Given the description of an element on the screen output the (x, y) to click on. 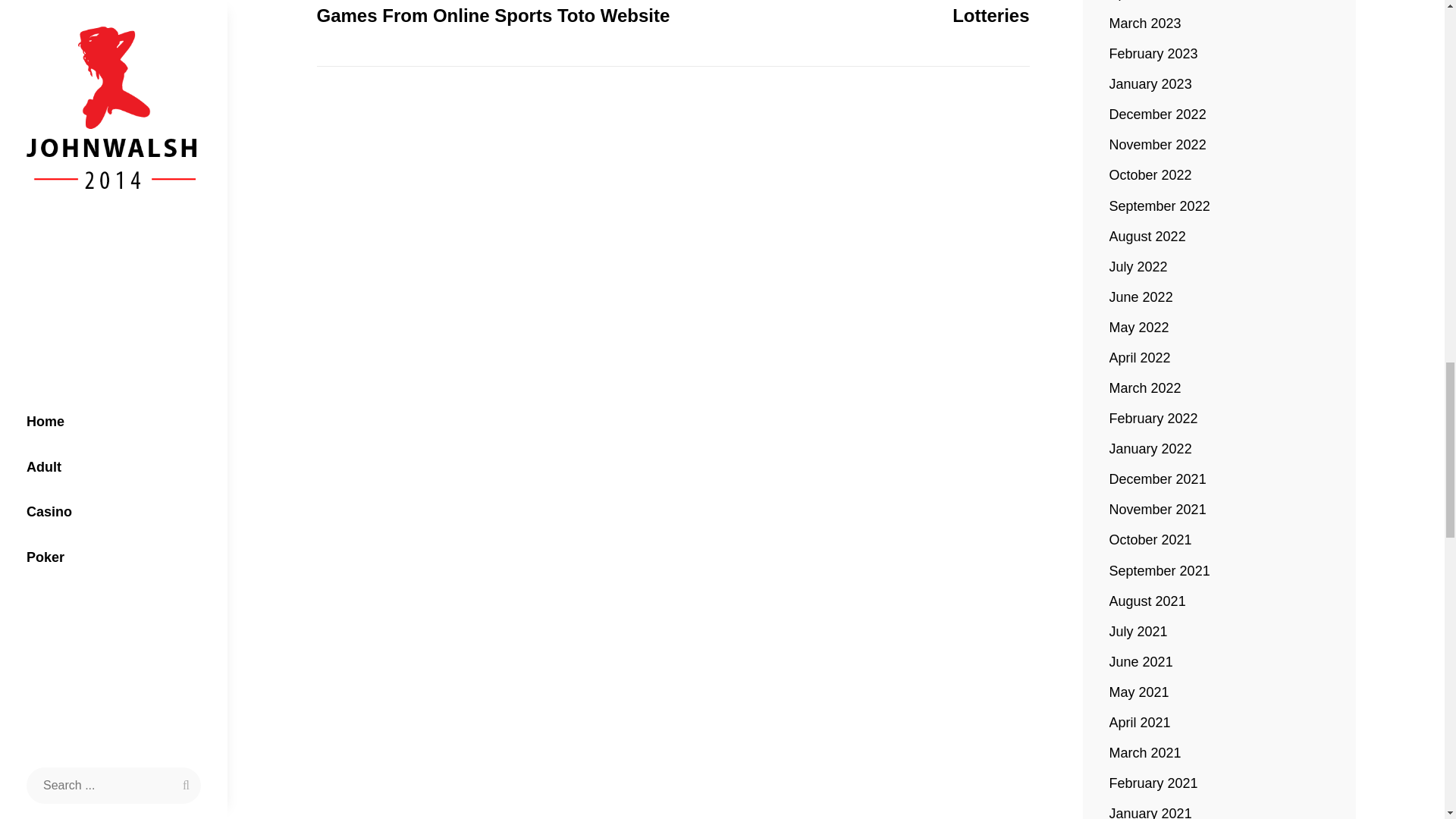
March 2023 (1144, 23)
January 2023 (1150, 84)
February 2023 (1153, 53)
April 2023 (1139, 2)
December 2022 (850, 14)
